Given the description of an element on the screen output the (x, y) to click on. 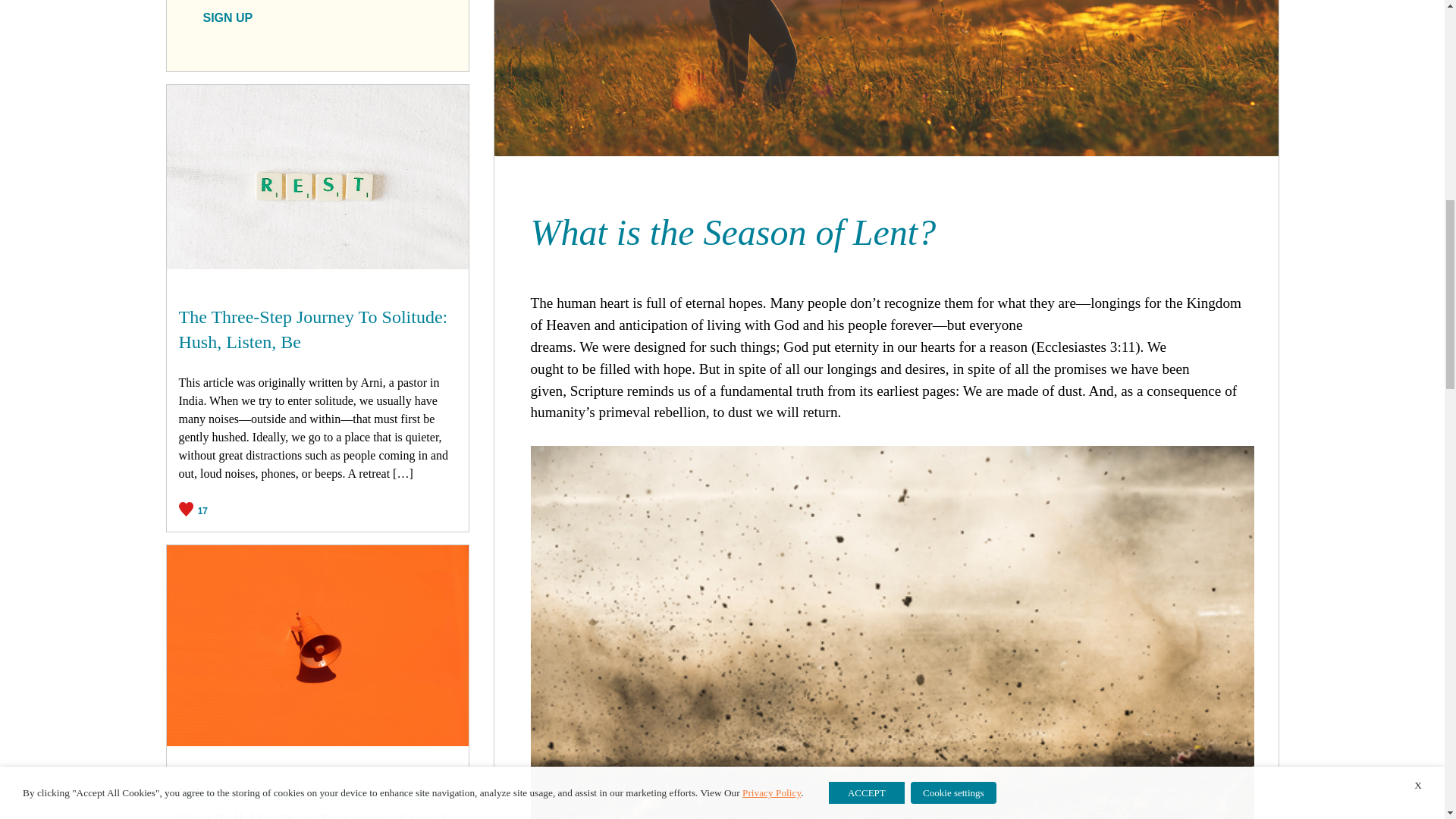
The Three-Step Journey To Solitude: Hush, Listen, Be (318, 329)
Unlike (193, 508)
Sign Up (228, 18)
Sign Up (228, 18)
